Given the description of an element on the screen output the (x, y) to click on. 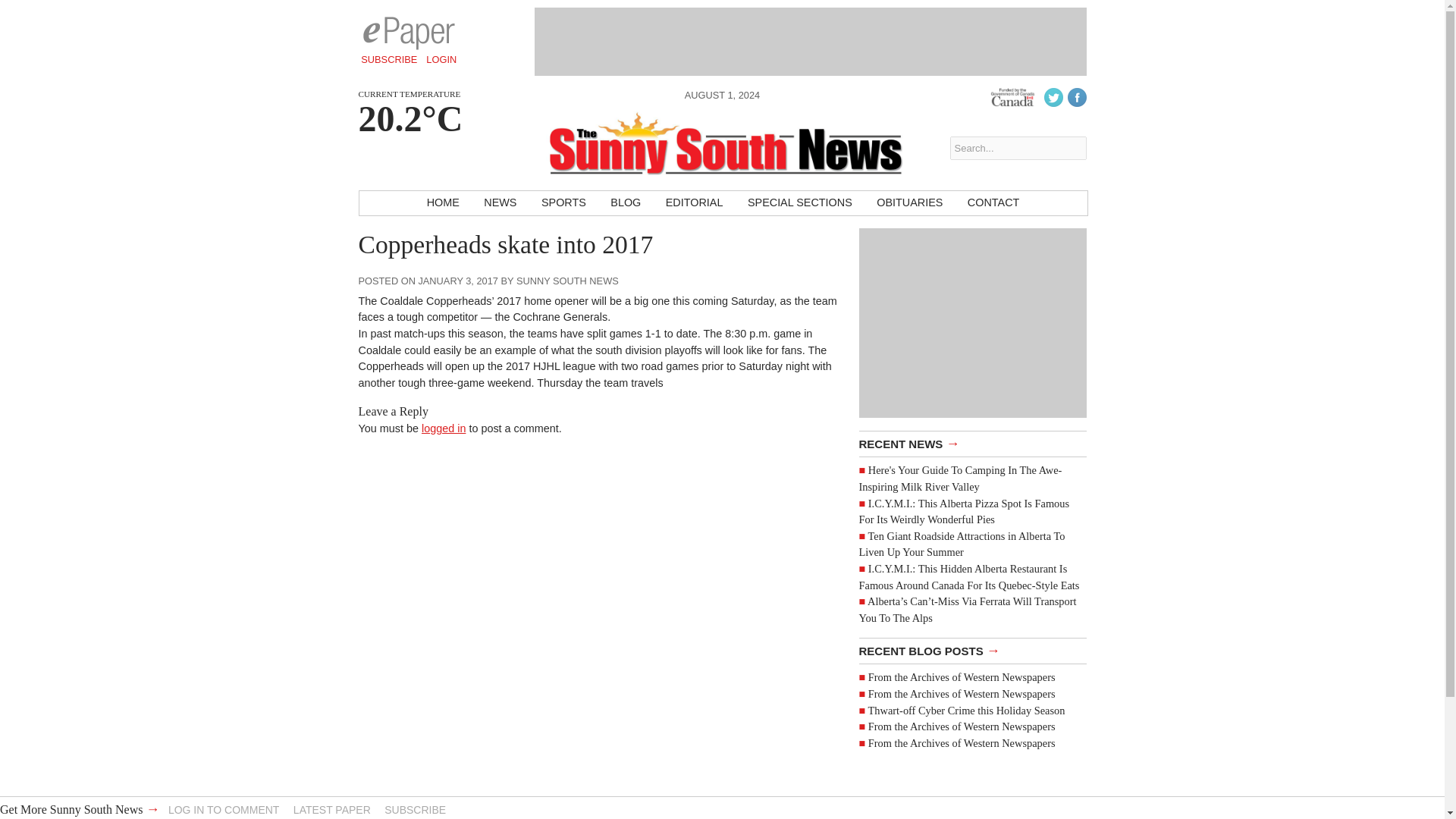
LOG IN TO COMMENT (223, 809)
LOGIN (441, 58)
SPORTS (563, 202)
From the Archives of Western Newspapers (961, 693)
From the Archives of Western Newspapers (961, 743)
EDITORIAL (694, 202)
SPECIAL SECTIONS (799, 202)
Thwart-off Cyber Crime this Holiday Season (966, 709)
SUBSCRIBE (389, 58)
CONTACT (992, 202)
BLOG (624, 202)
